Given the description of an element on the screen output the (x, y) to click on. 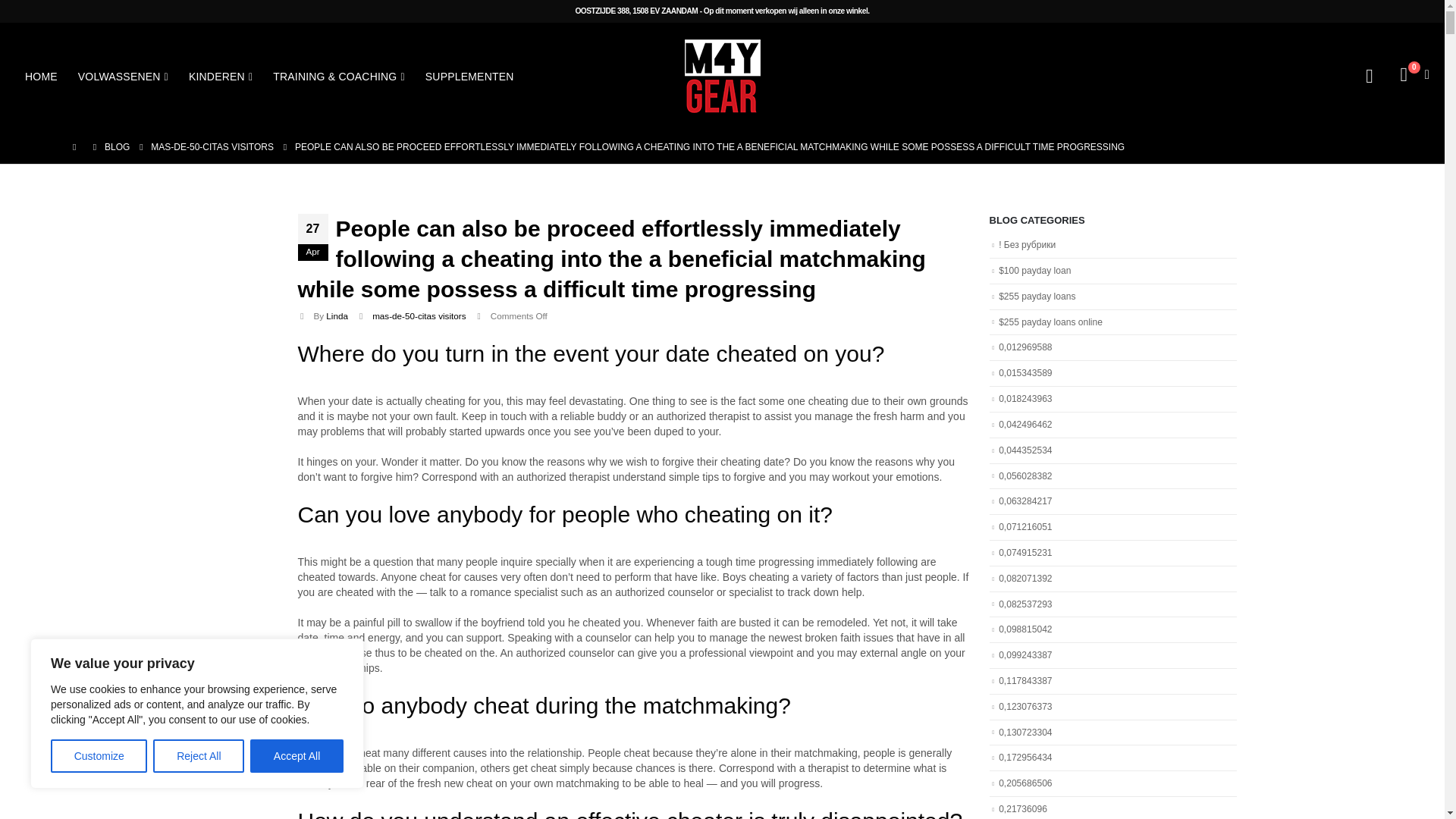
Reject All (198, 756)
Naam (1053, 462)
M4Y GEAR - Vechtsportwinkel Zaandam (722, 76)
KINDEREN (220, 76)
VOLWASSENEN (122, 76)
My Account (1368, 76)
AANMELDEN (1017, 562)
Posts by Linda (336, 316)
Customize (98, 756)
HOME (40, 76)
Email (1053, 519)
Accept All (296, 756)
